Given the description of an element on the screen output the (x, y) to click on. 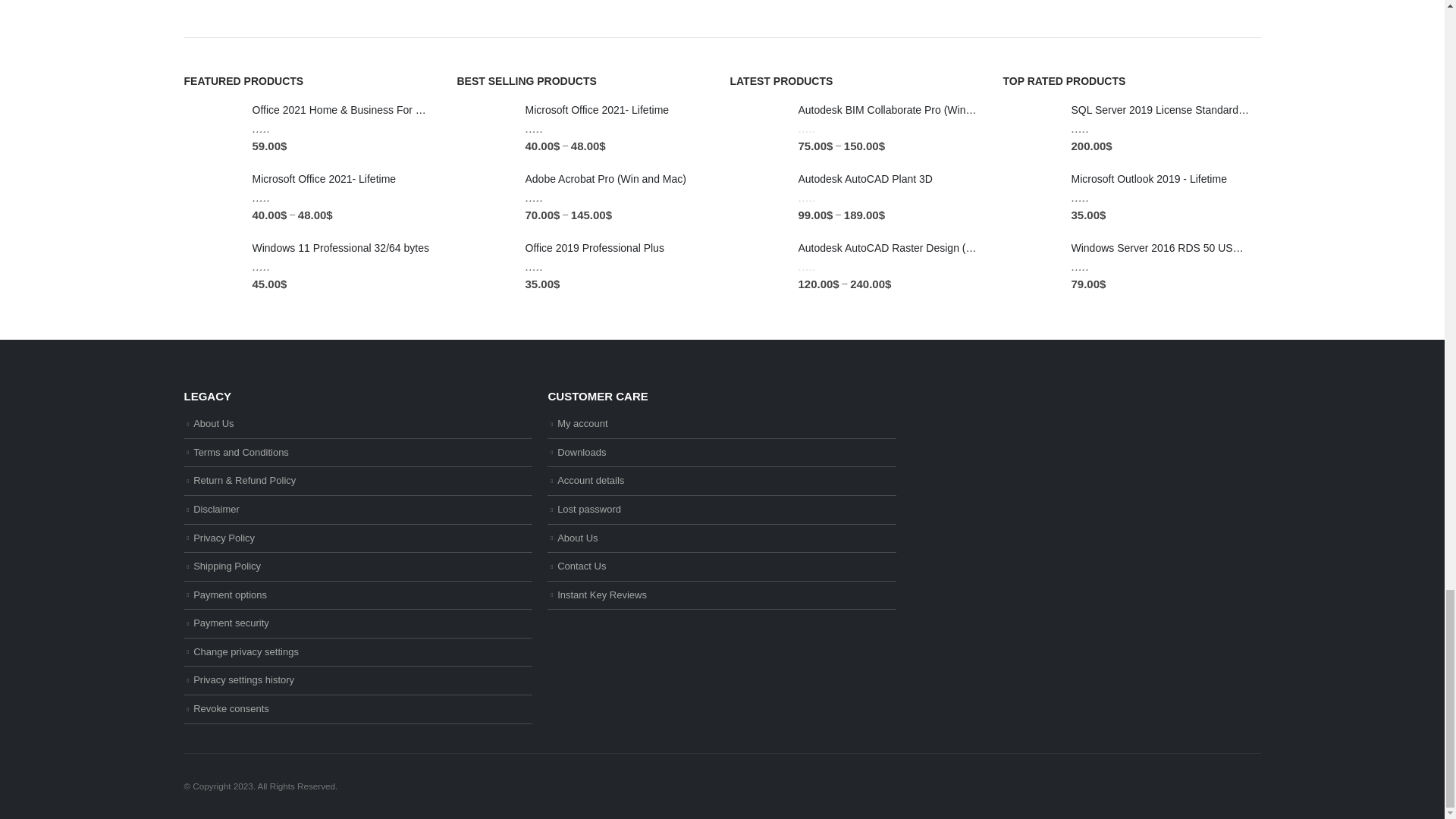
Microsoft Office 2021- Lifetime (340, 179)
4.88 (276, 197)
4.89 (276, 128)
Microsoft Office 2021- Lifetime (211, 197)
